Given the description of an element on the screen output the (x, y) to click on. 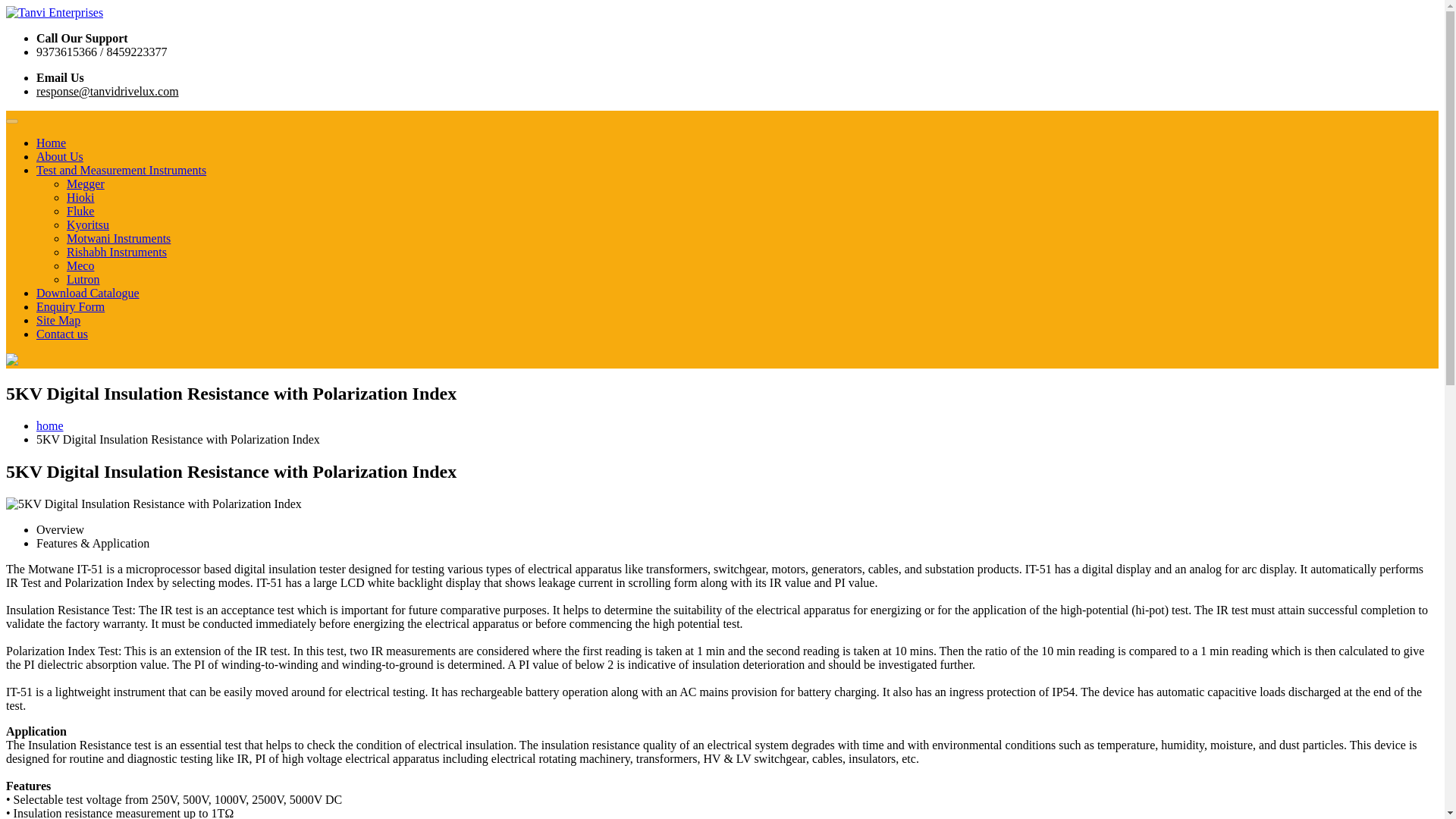
home (50, 425)
Rishabh Instruments (116, 251)
Enquiry Form (70, 306)
Lutron (83, 278)
Motwani Instruments (118, 237)
Download Catalogue (87, 292)
Contact us (61, 333)
Home (50, 142)
Test and Measurement Instruments (121, 169)
Fluke (80, 210)
